Given the description of an element on the screen output the (x, y) to click on. 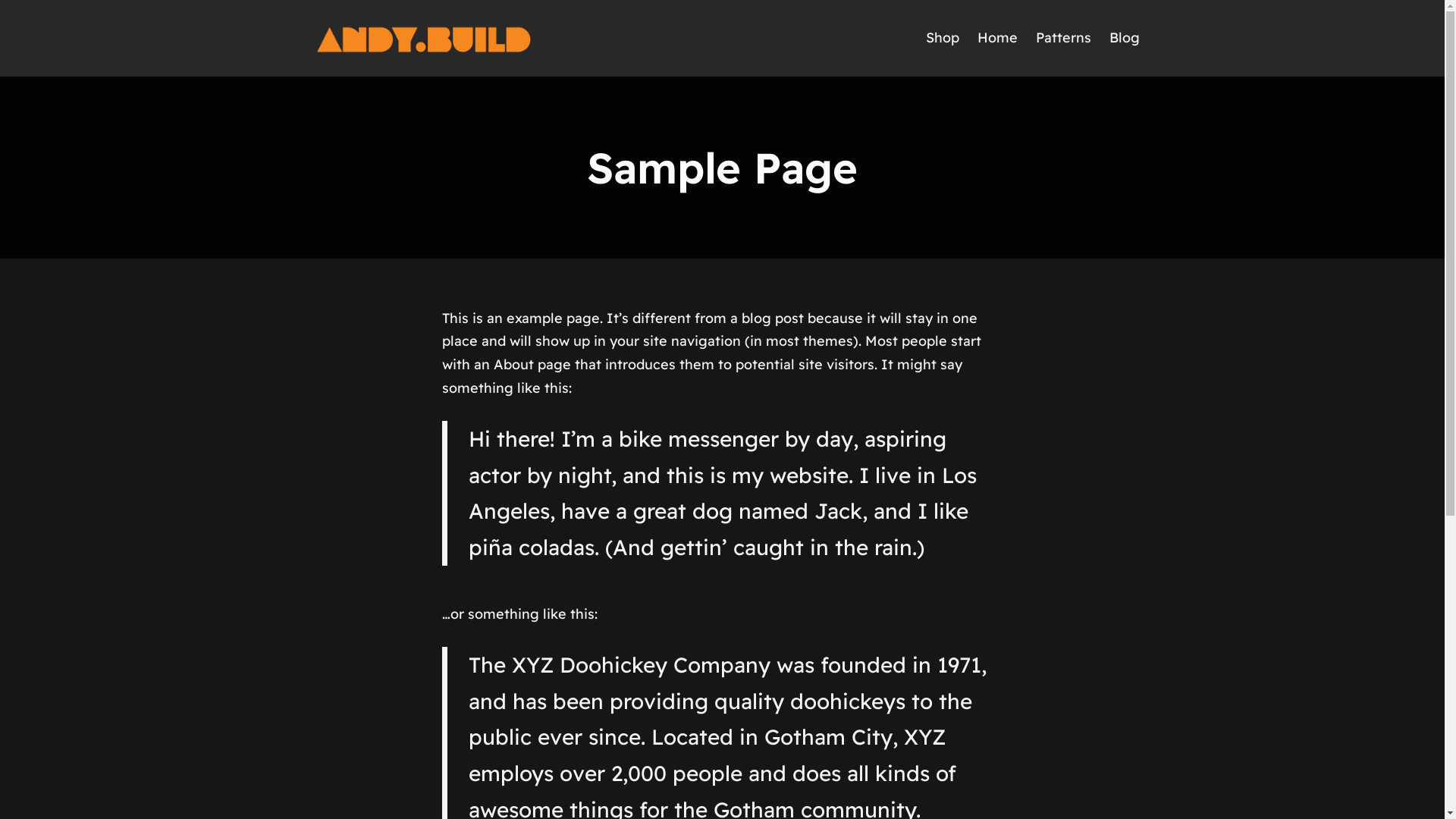
Patterns Element type: text (1063, 38)
Blog Element type: text (1123, 38)
Home Element type: text (996, 38)
Shop Element type: text (941, 38)
